Given the description of an element on the screen output the (x, y) to click on. 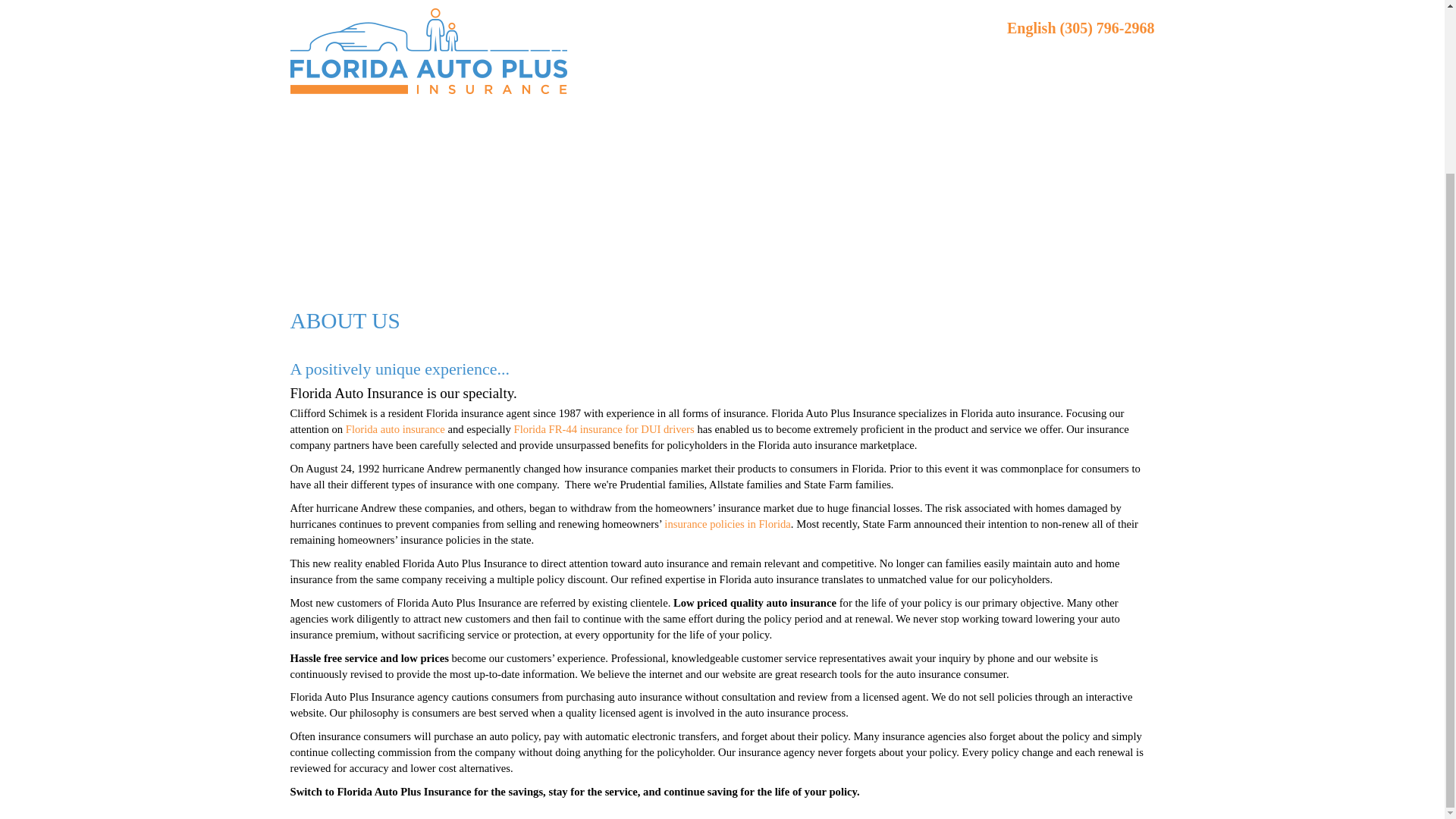
Florida auto insurance (395, 428)
insurance policies in Florida (726, 523)
Florida FR-44 insurance for DUI drivers (603, 428)
